Given the description of an element on the screen output the (x, y) to click on. 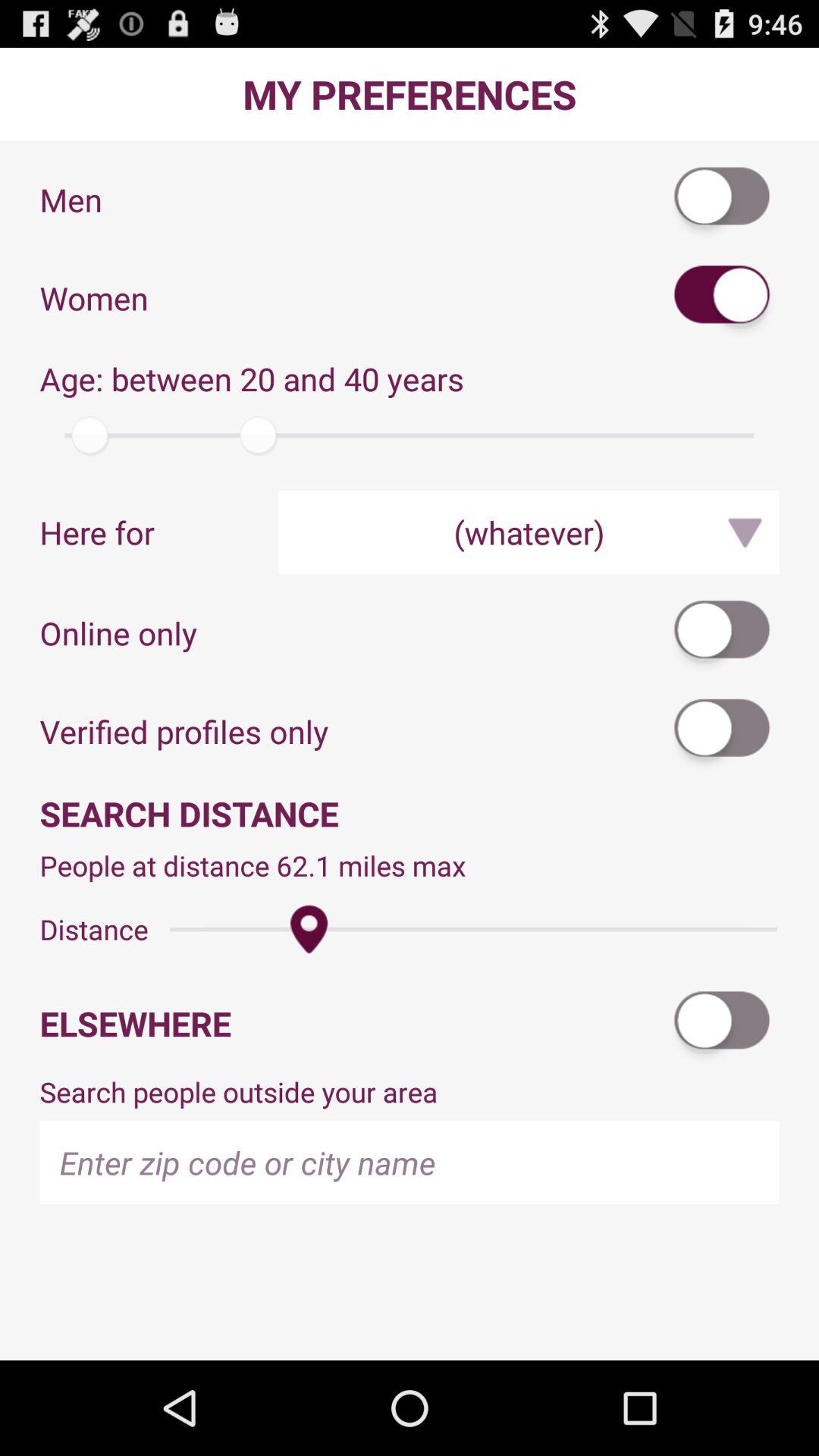
apply if you are man (722, 199)
